Given the description of an element on the screen output the (x, y) to click on. 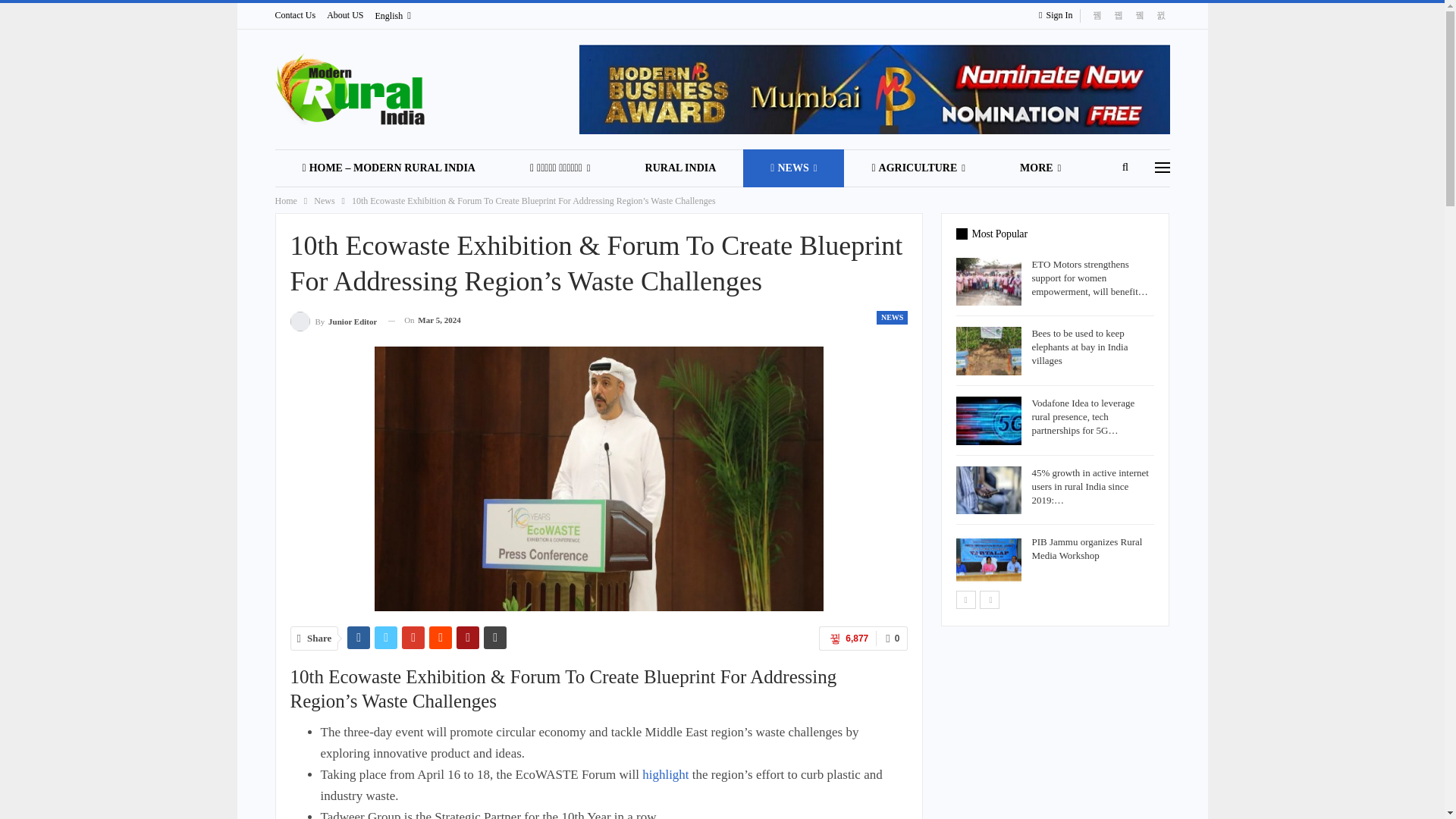
English (392, 15)
Contact Us (295, 14)
About US (344, 14)
Sign In (1058, 14)
